Given the description of an element on the screen output the (x, y) to click on. 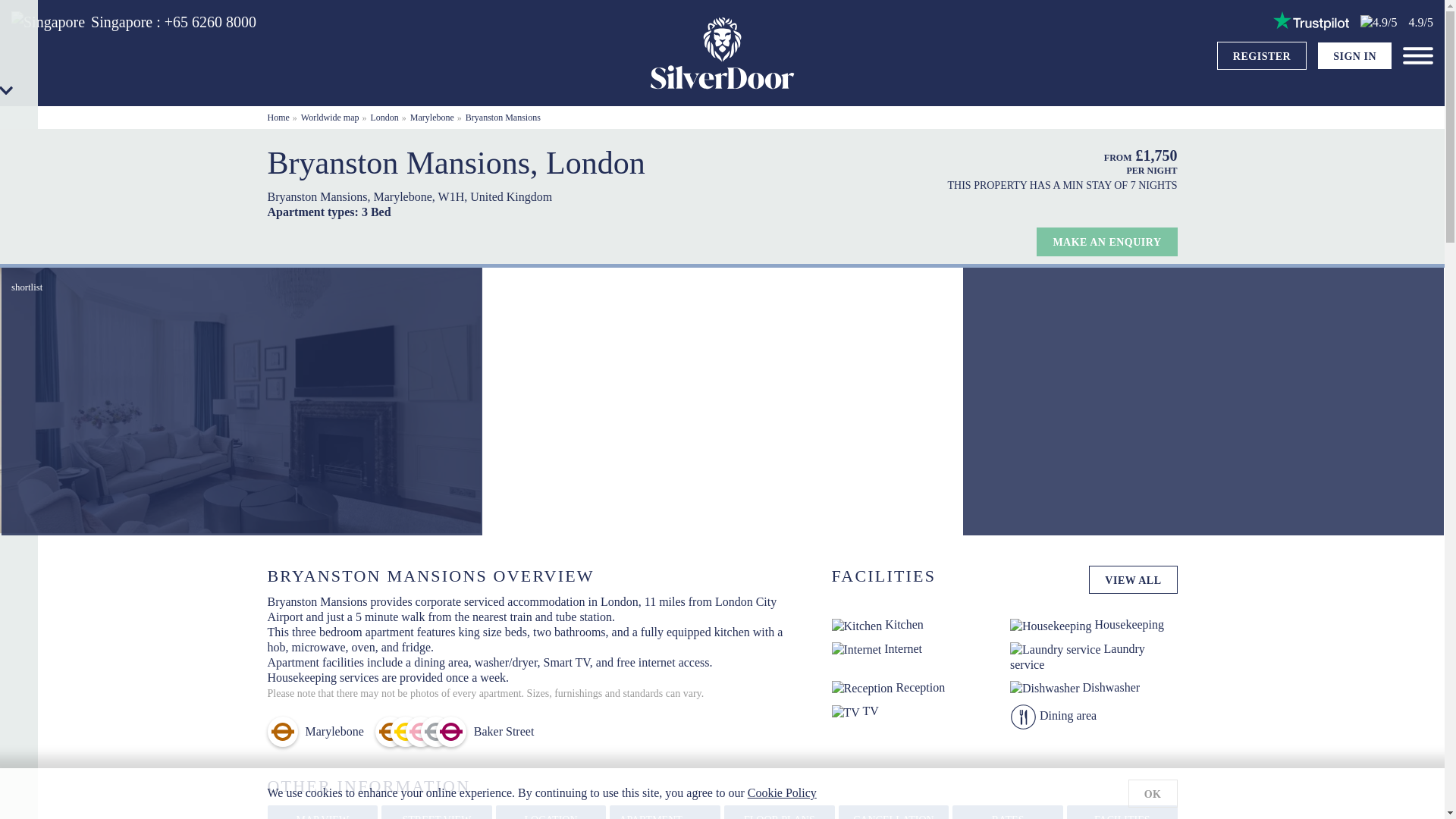
London (384, 117)
Marylebone (432, 117)
VIEW ALL (1132, 579)
Home (277, 117)
SIGN IN (1354, 55)
Bryanston Mansions (502, 117)
Worldwide map (330, 117)
MAKE AN ENQUIRY (1106, 241)
REGISTER (1261, 55)
